Given the description of an element on the screen output the (x, y) to click on. 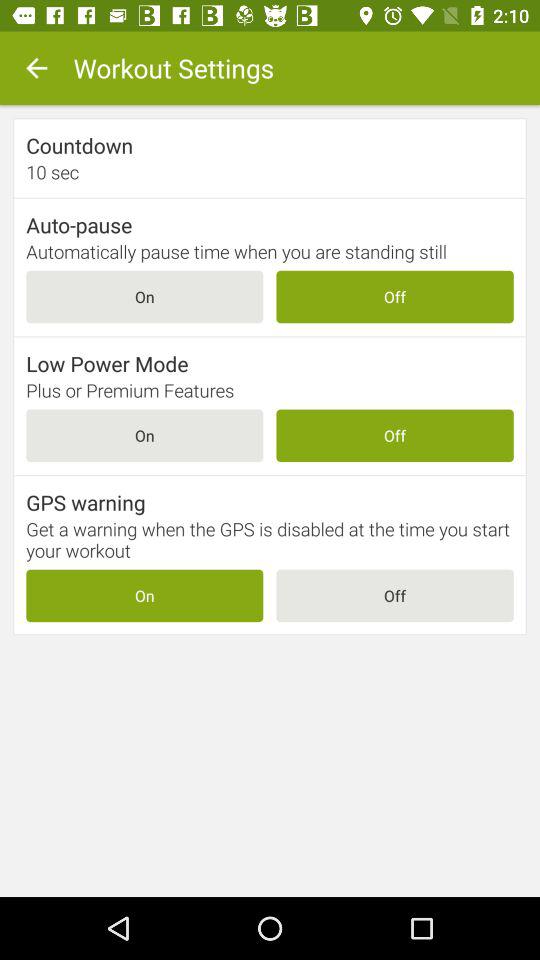
tap item next to the workout settings (36, 68)
